Given the description of an element on the screen output the (x, y) to click on. 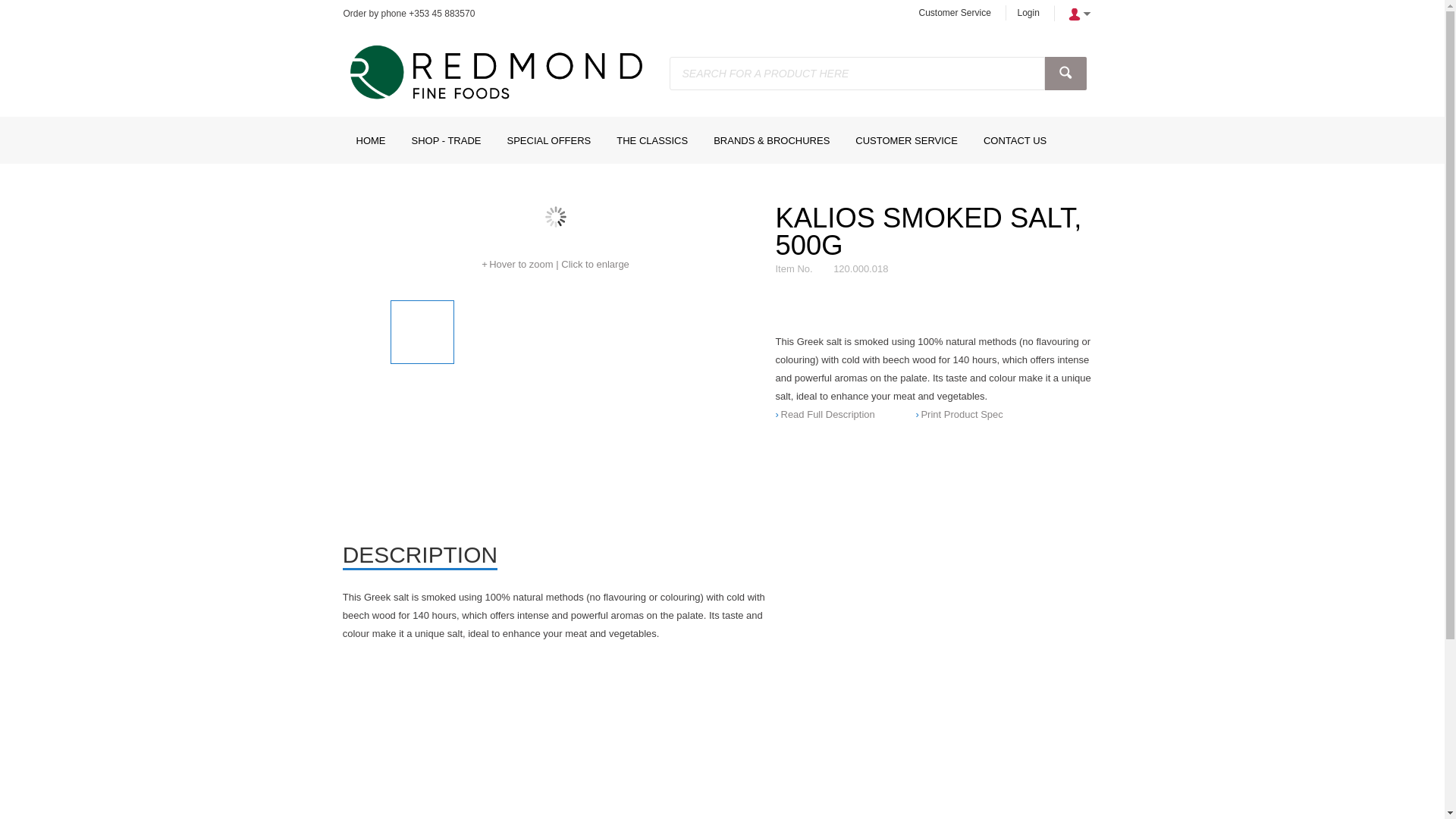
Search products (1065, 73)
Kalios Smoked Salt, 500g (555, 216)
Login (1028, 12)
Print preview (959, 414)
Customer Service (954, 12)
SHOP - TRADE (446, 140)
HOME (369, 140)
